Given the description of an element on the screen output the (x, y) to click on. 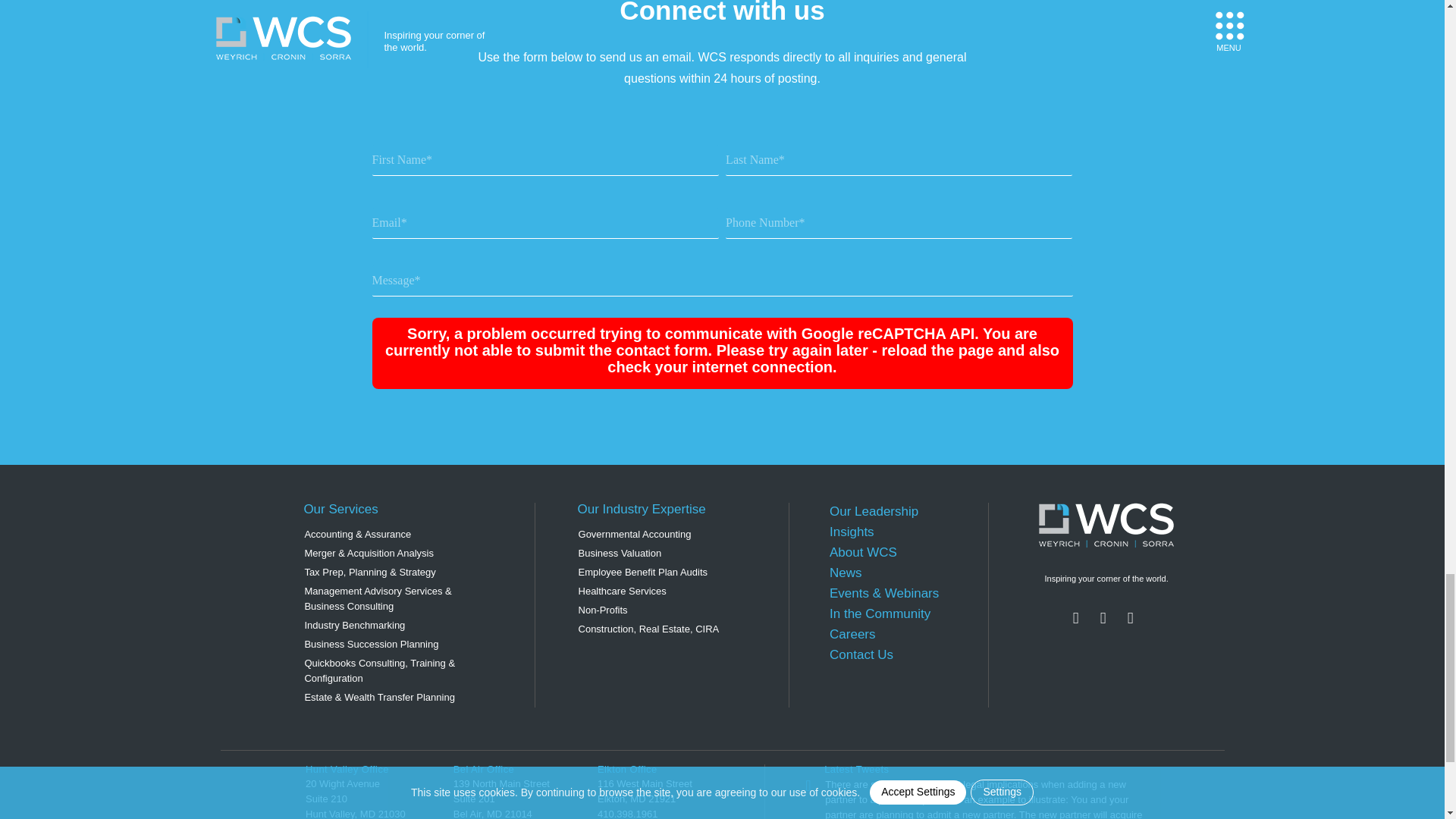
1x-logo-no-tagline (1106, 524)
